Given the description of an element on the screen output the (x, y) to click on. 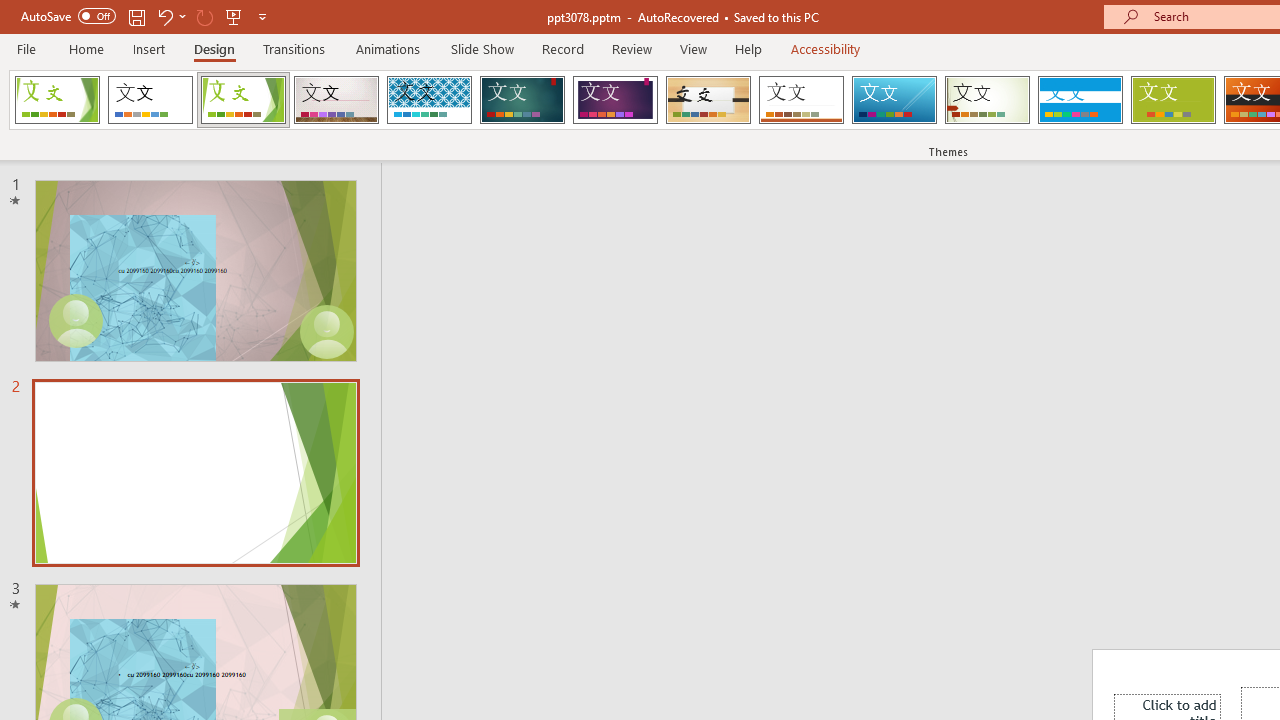
Organic (708, 100)
Slice (893, 100)
Facet (243, 100)
Wisp (987, 100)
